Given the description of an element on the screen output the (x, y) to click on. 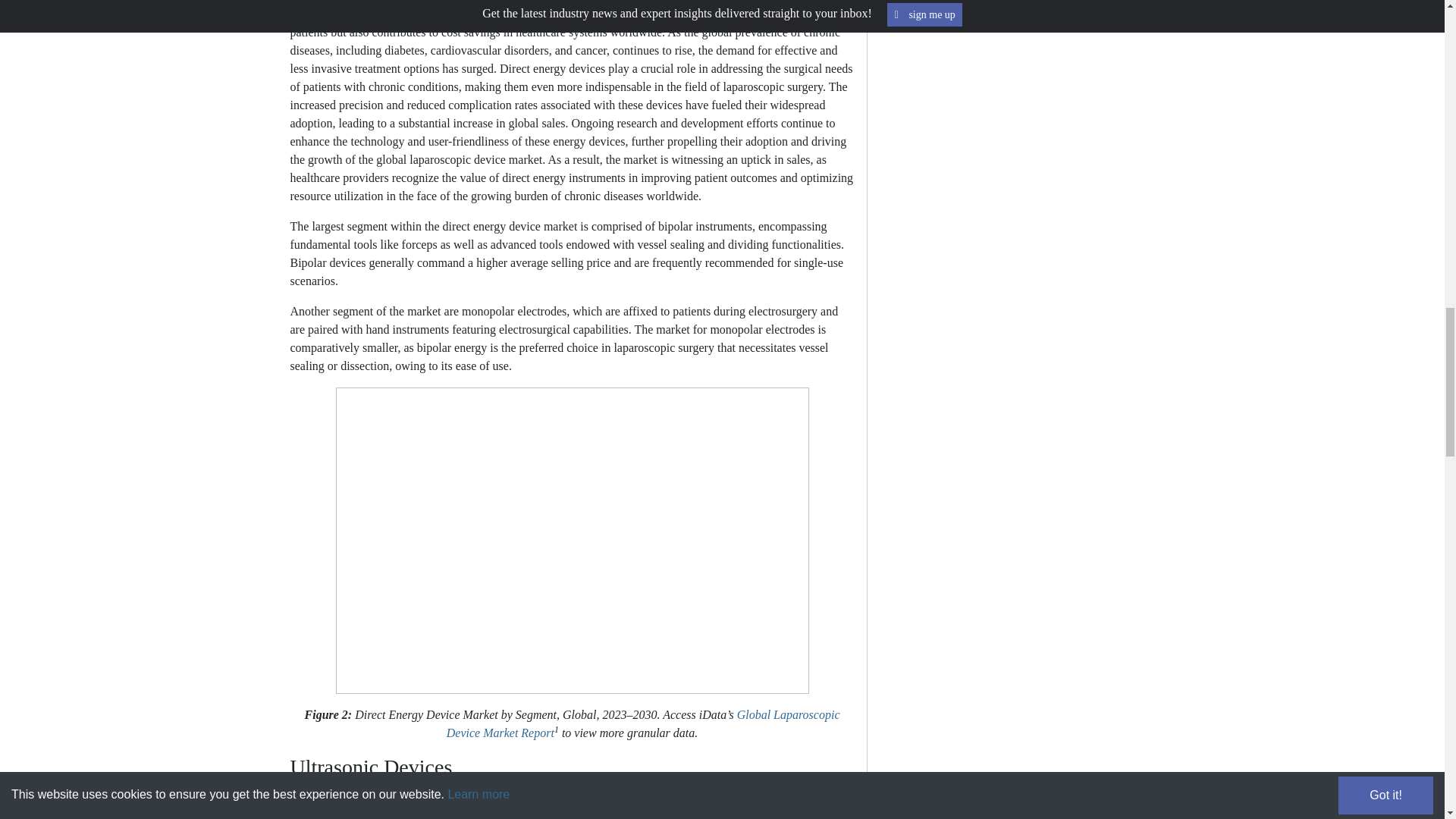
Global Laparoscopic Device Market Report (643, 723)
